Given the description of an element on the screen output the (x, y) to click on. 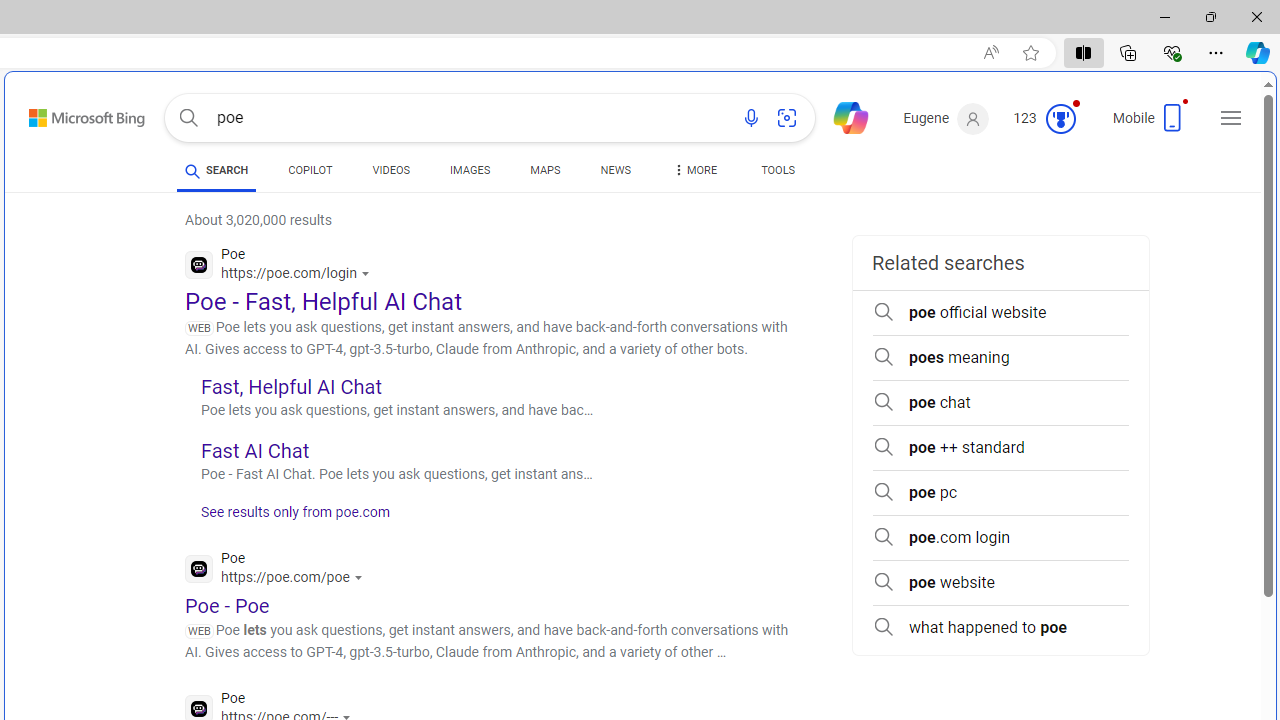
poe pc (1000, 492)
MAPS (545, 170)
Skip to content (65, 111)
what happened to poe (1000, 628)
Fast AI Chat (254, 449)
TOOLS (777, 170)
Fast, Helpful AI Chat (290, 385)
COPILOT (310, 170)
Actions for this site (360, 577)
poe chat (1000, 402)
poe ++ standard (1000, 448)
Poe - Poe (227, 605)
Settings and quick links (1231, 117)
